Given the description of an element on the screen output the (x, y) to click on. 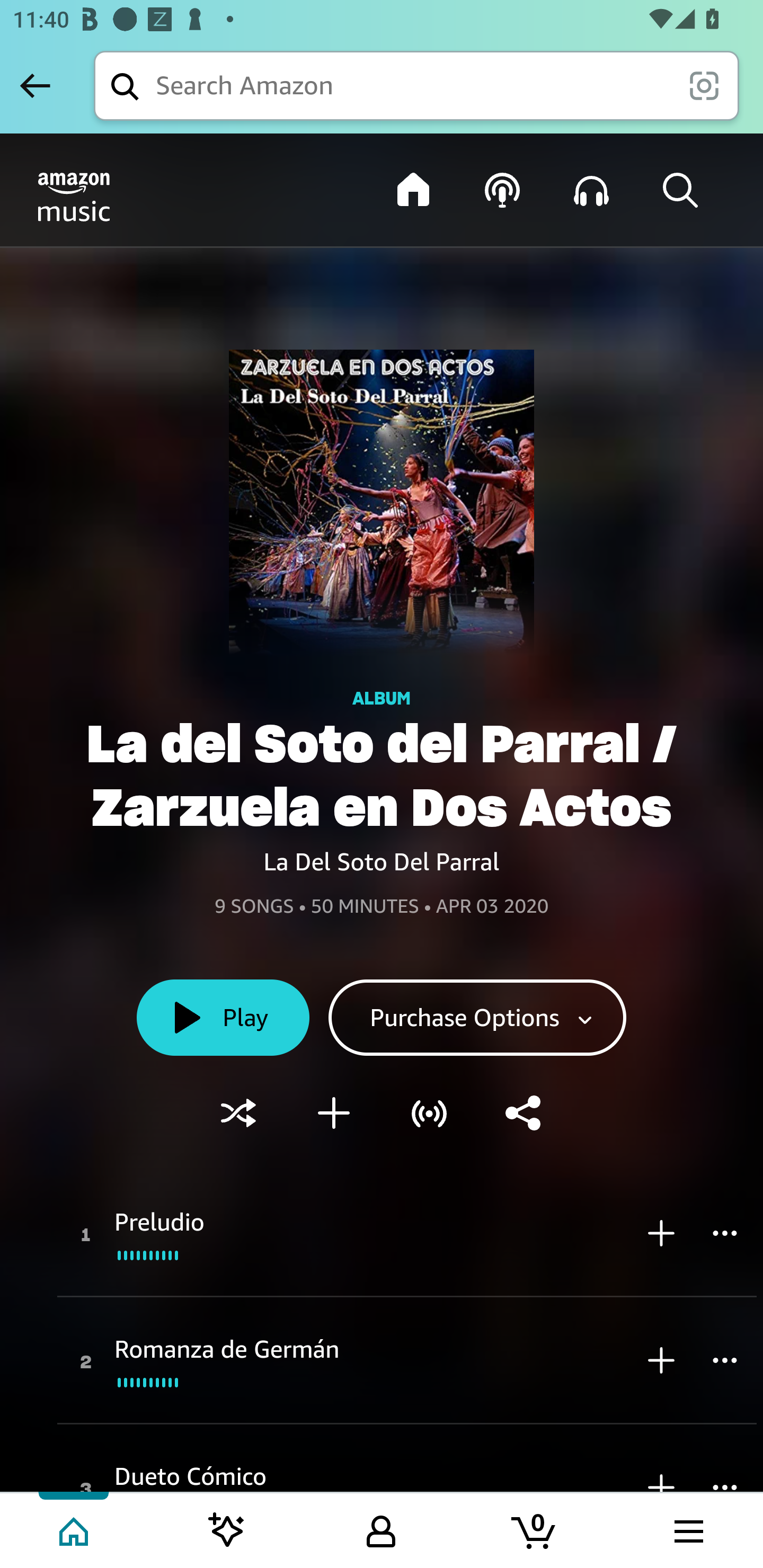
Back (35, 85)
Search Search Search Amazon scan it (416, 85)
scan it (704, 85)
Start Search (680, 189)
Library (591, 189)
Amazon Music (187, 196)
La Del Soto Del Parral (381, 861)
9 SONGS • 50 MINUTES • APR 03 2020 (381, 906)
Play (222, 1017)
Purchase Options (476, 1017)
Shuffle (237, 1113)
Add to My Music (334, 1113)
Play Similar Music (428, 1113)
Share this album (524, 1113)
Add to My Music (660, 1232)
Preludio (159, 1221)
Add to My Music (660, 1359)
Romanza de Germán (227, 1348)
Dueto Cómico (190, 1475)
Home Tab 1 of 5 (75, 1529)
Inspire feed Tab 2 of 5 (227, 1529)
Your Amazon.com Tab 3 of 5 (380, 1529)
Cart 0 item Tab 4 of 5 0 (534, 1529)
Browse menu Tab 5 of 5 (687, 1529)
